Given the description of an element on the screen output the (x, y) to click on. 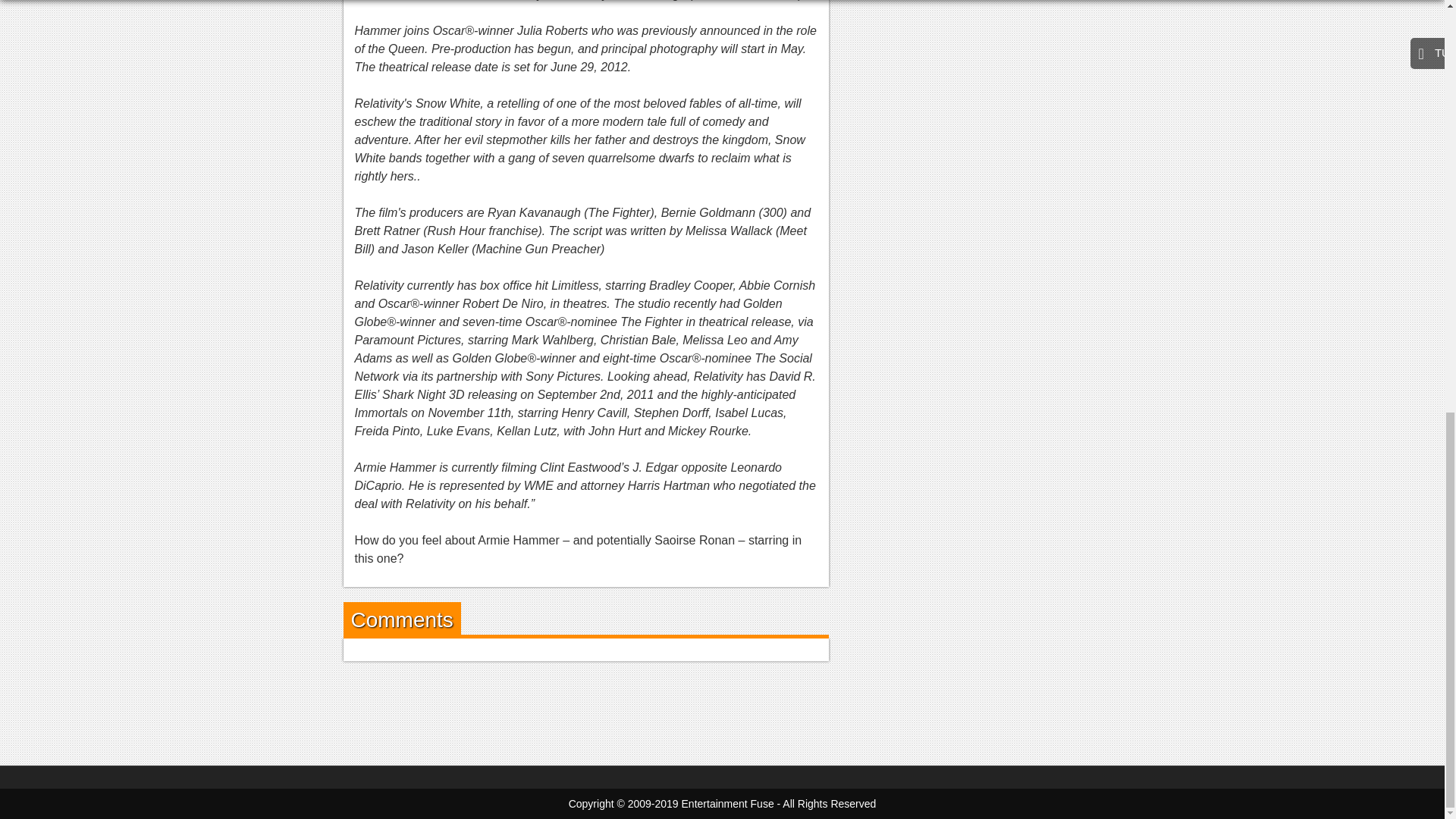
Advertisement (721, 710)
